Given the description of an element on the screen output the (x, y) to click on. 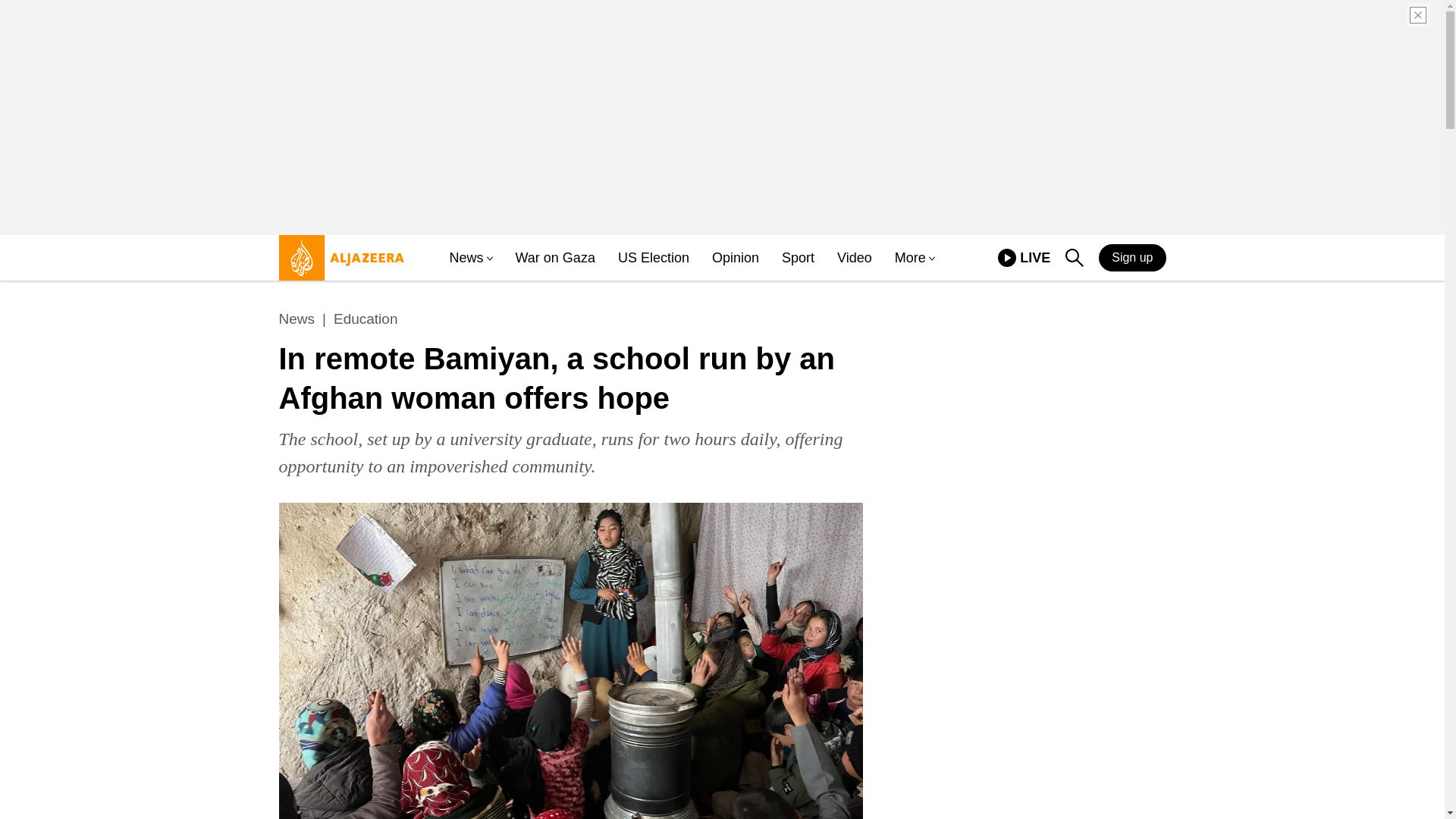
Skip to Content (337, 264)
News (465, 257)
play (1006, 257)
US Election (652, 257)
News (297, 319)
search (1074, 257)
Sport (797, 257)
More (910, 257)
Video (854, 257)
Sign up (1132, 257)
Opinion (1023, 257)
Education (734, 257)
War on Gaza (365, 319)
